Given the description of an element on the screen output the (x, y) to click on. 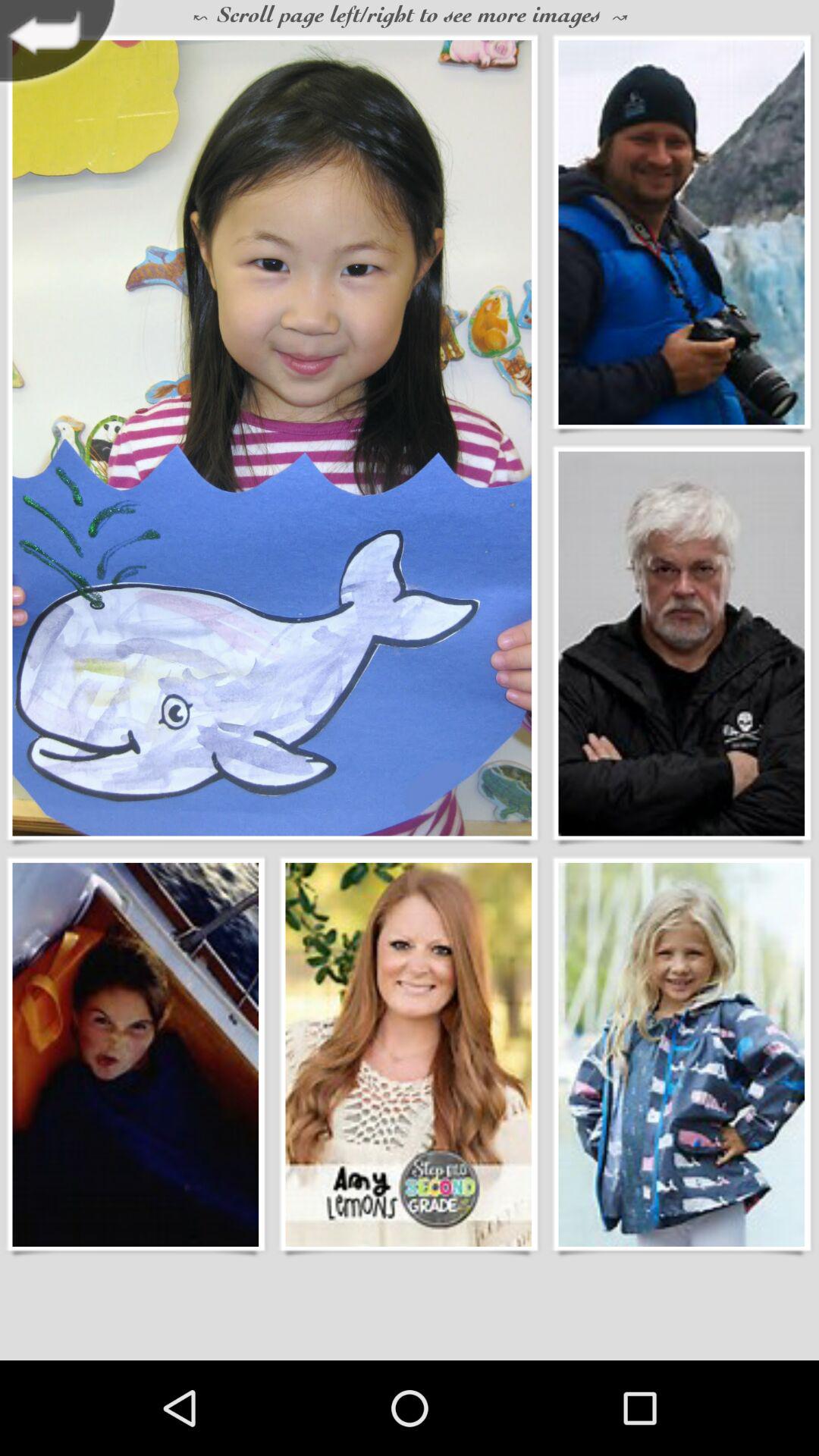
select image (681, 1054)
